Given the description of an element on the screen output the (x, y) to click on. 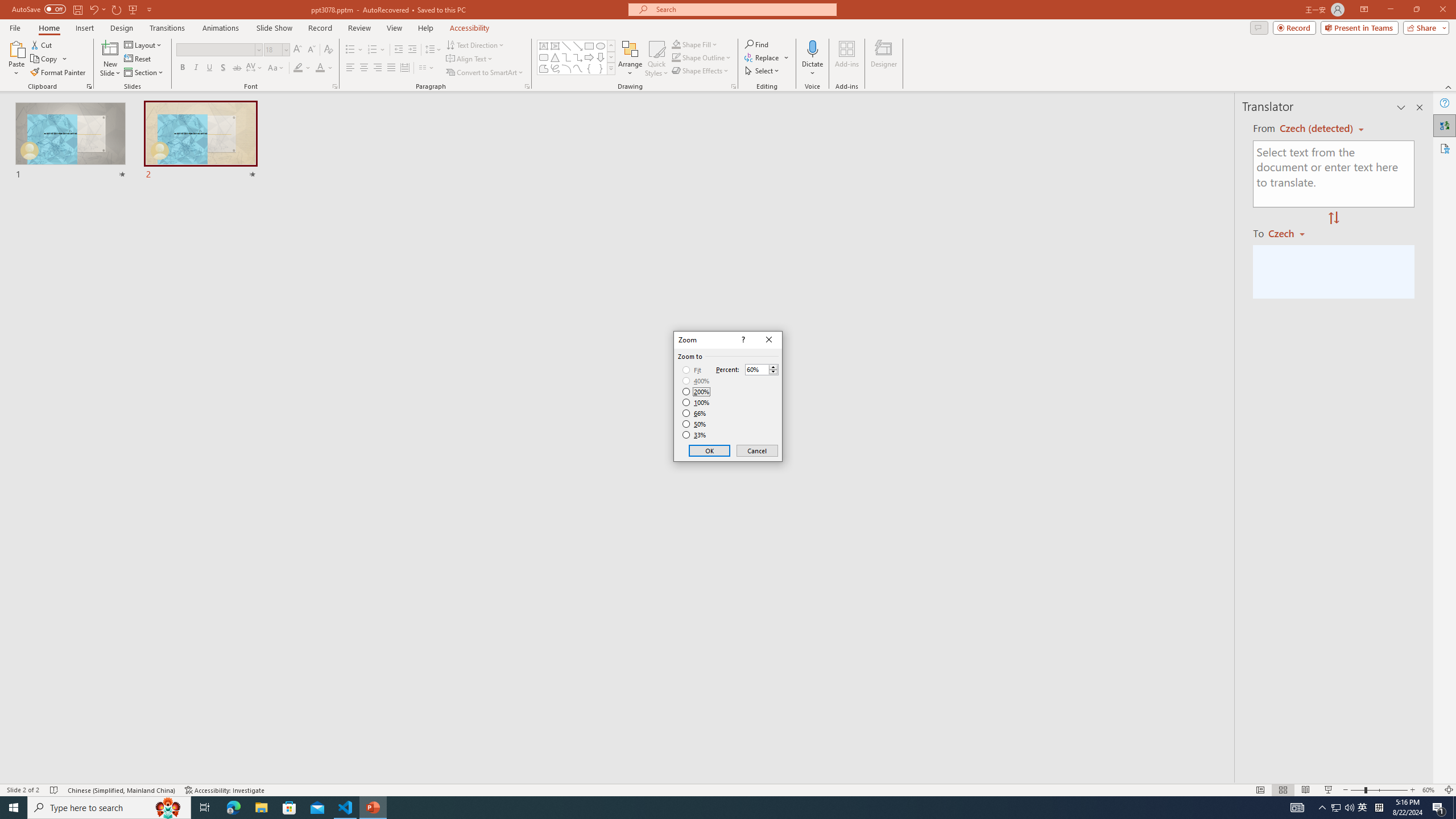
33% (694, 434)
Shape Effects (700, 69)
